Given the description of an element on the screen output the (x, y) to click on. 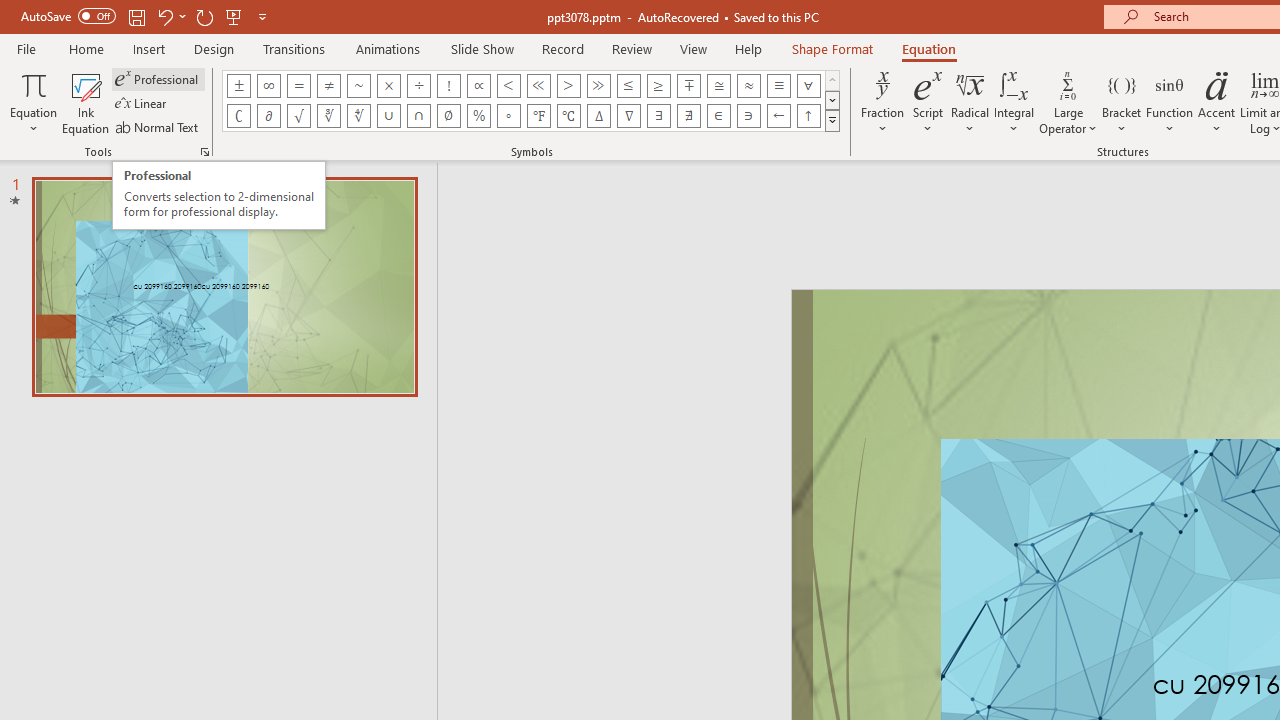
Equation Symbol Union (388, 115)
Professional (158, 78)
Equation Symbol Greater Than (568, 85)
Equation Symbol Left Arrow (778, 115)
Equation Symbol Almost Equal To (Asymptotic To) (748, 85)
Equation Symbol Percentage (478, 115)
Equation Symbol Fourth Root (358, 115)
Equation Symbol For All (808, 85)
Equation Symbol Up Arrow (808, 115)
